Given the description of an element on the screen output the (x, y) to click on. 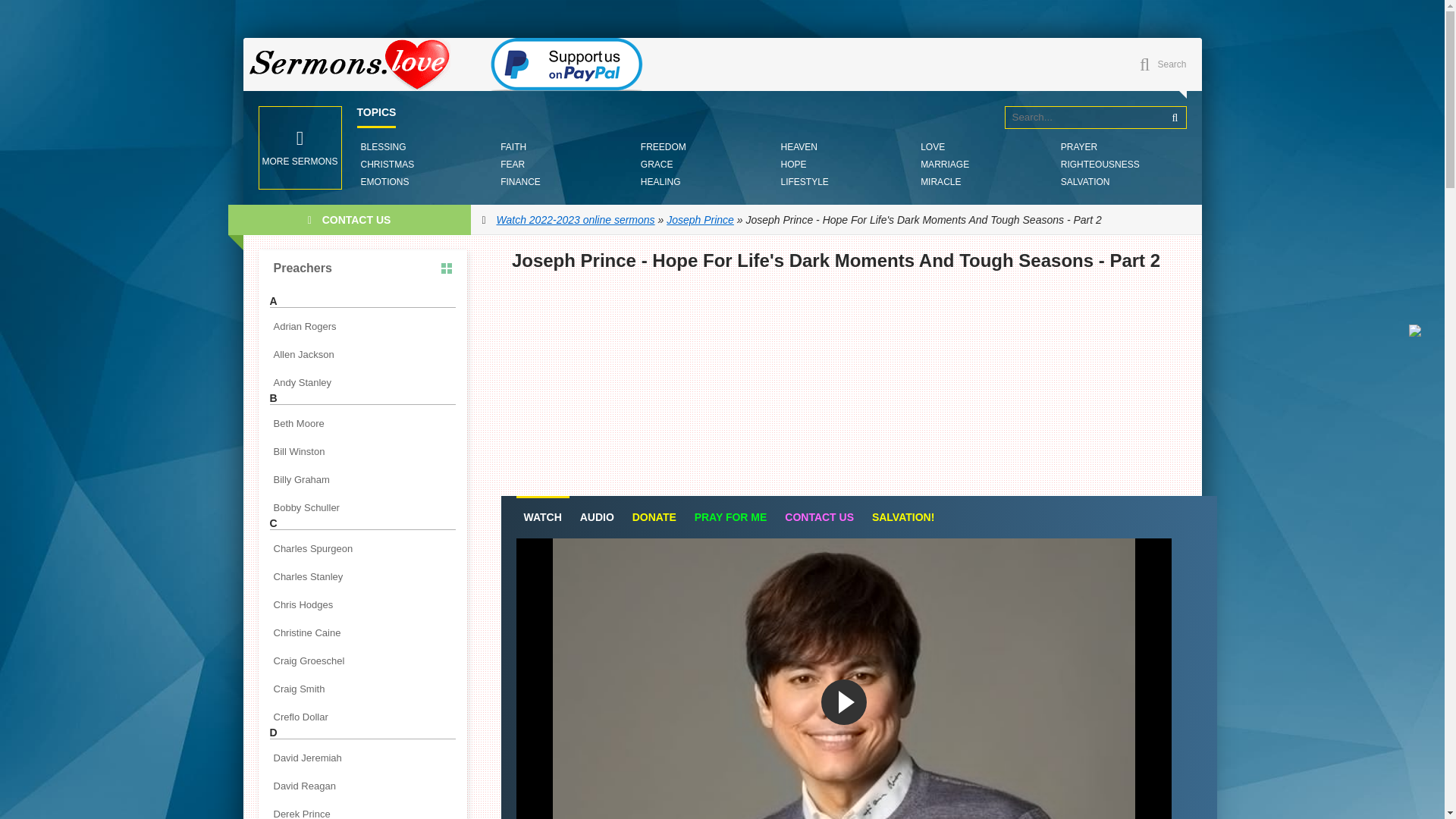
RIGHTEOUSNESS (1099, 164)
SALVATION (1085, 181)
Andy Stanley (362, 382)
Sermons.love (356, 63)
CONTACT US (818, 517)
Billy Graham (362, 479)
PRAYER (1078, 146)
Joseph Prince (699, 219)
LOVE (933, 146)
Watch 2022-2023 online sermons (575, 219)
